Given the description of an element on the screen output the (x, y) to click on. 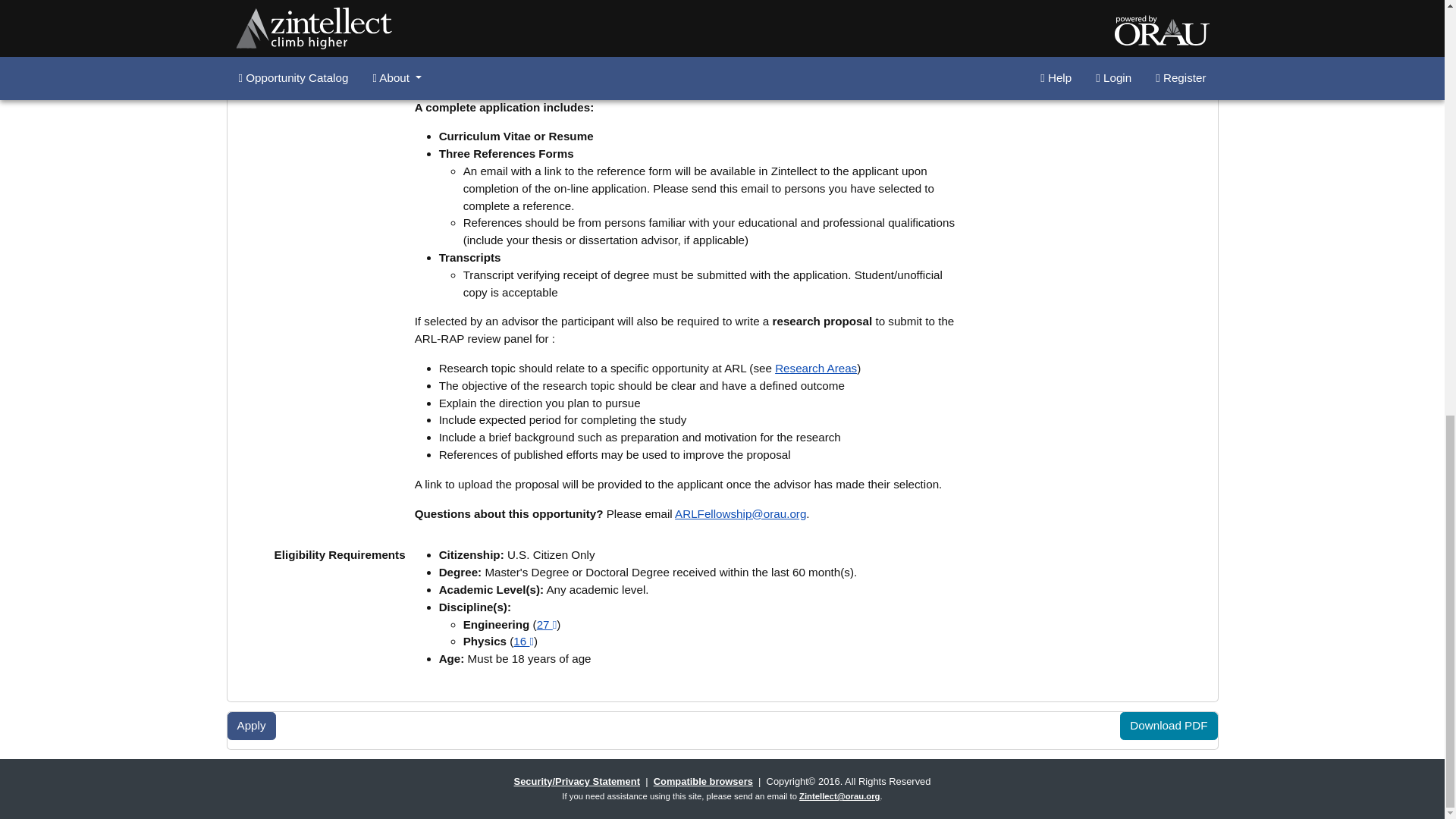
Download PDF (1168, 725)
16 (523, 640)
27 (547, 624)
Apply (251, 725)
Research Areas (815, 367)
Compatible browsers (702, 781)
